Given the description of an element on the screen output the (x, y) to click on. 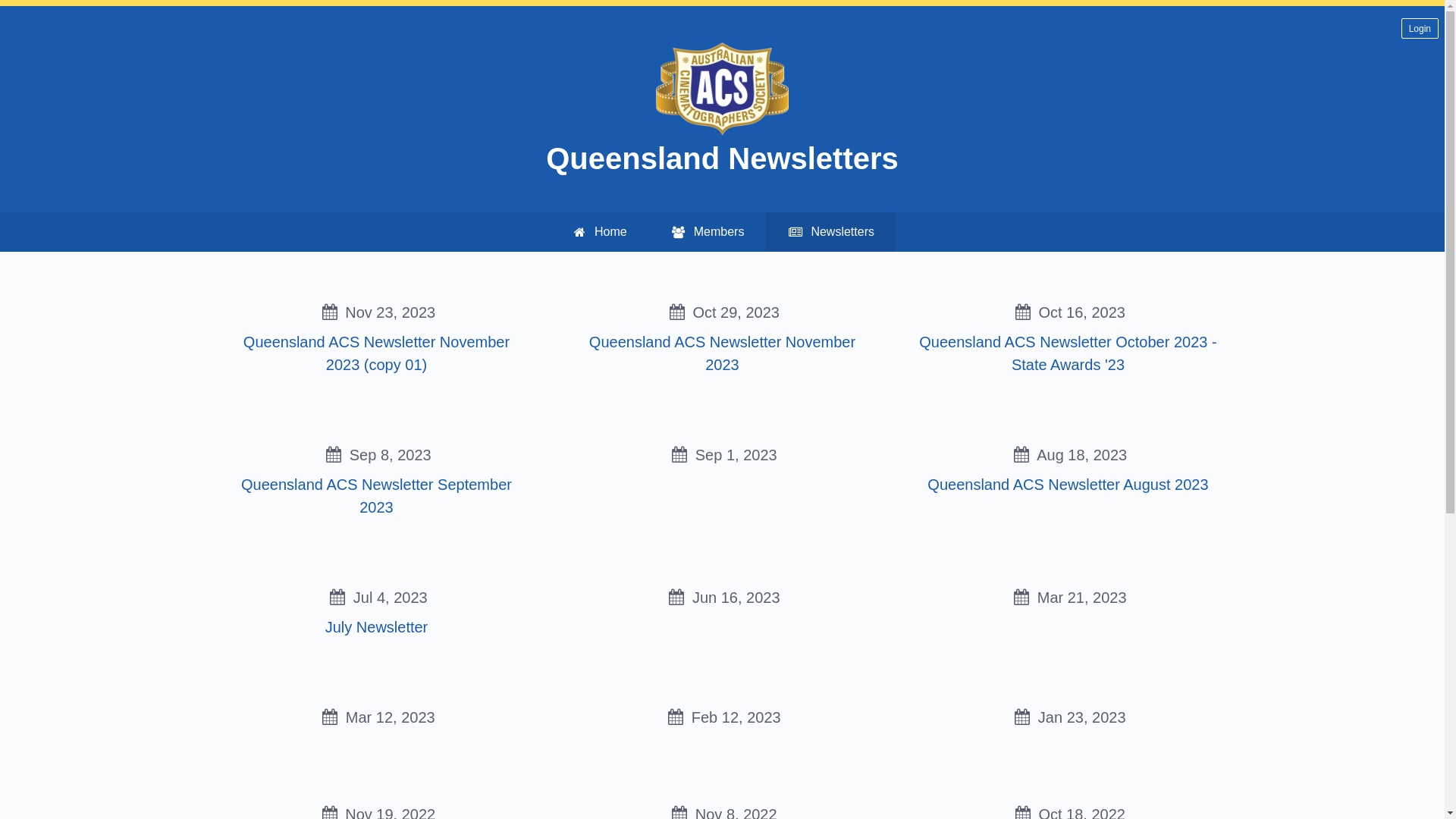
Members Element type: text (706, 231)
July Newsletter Element type: text (376, 626)
Login Element type: text (1419, 28)
Queensland ACS Newsletter November 2023 (copy 01) Element type: text (376, 353)
Queensland ACS Newsletter November 2023 Element type: text (722, 353)
Queensland ACS Newsletter October 2023 - State Awards '23 Element type: text (1067, 353)
Queensland ACS Newsletter September 2023 Element type: text (376, 495)
Newsletters Element type: text (830, 231)
Queensland ACS Newsletter August 2023 Element type: text (1067, 484)
Home Element type: text (598, 231)
